Given the description of an element on the screen output the (x, y) to click on. 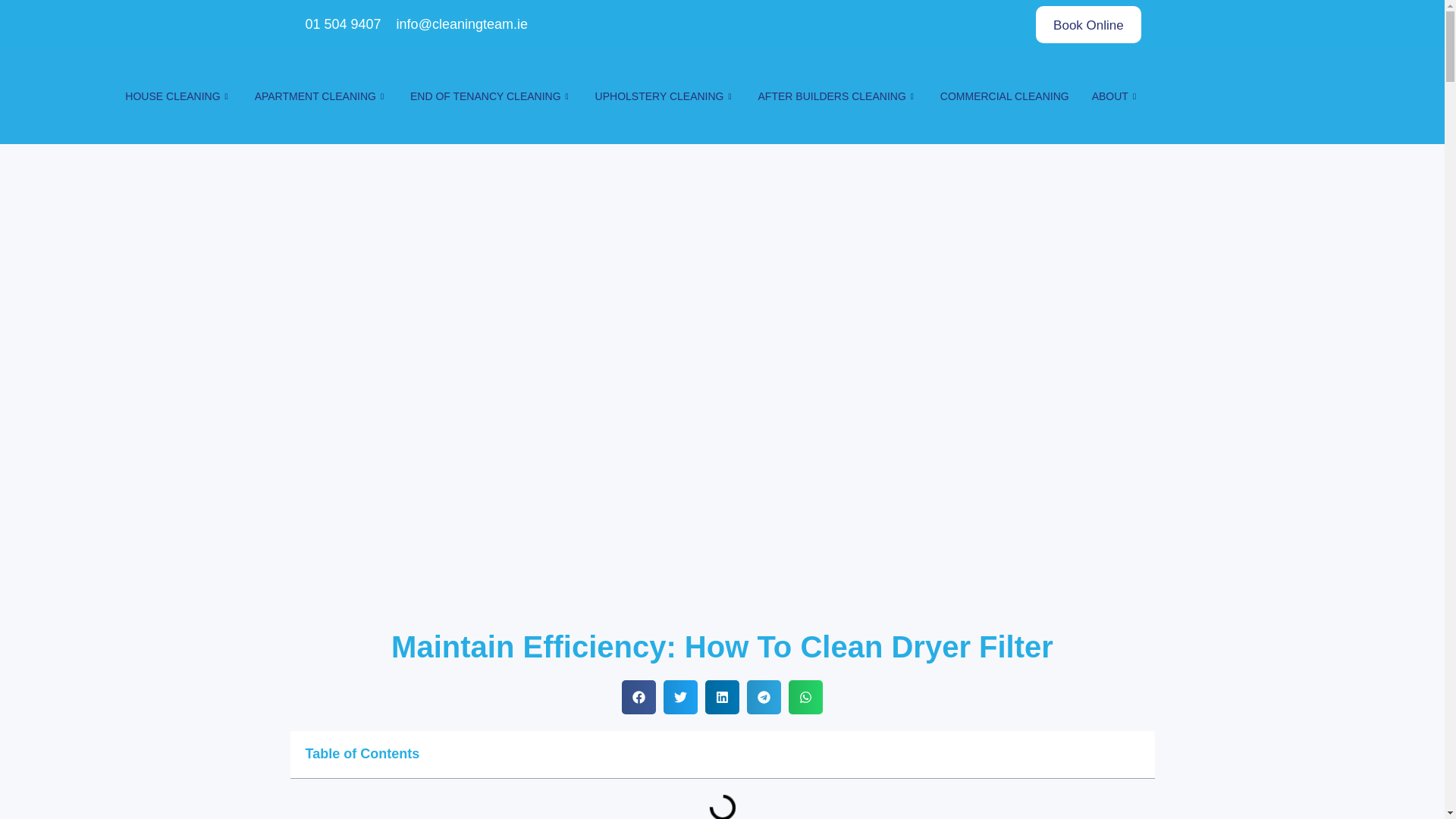
01 504 9407 (341, 24)
HOUSE CLEANING (178, 96)
Book Online (1088, 24)
APARTMENT CLEANING (320, 96)
